Given the description of an element on the screen output the (x, y) to click on. 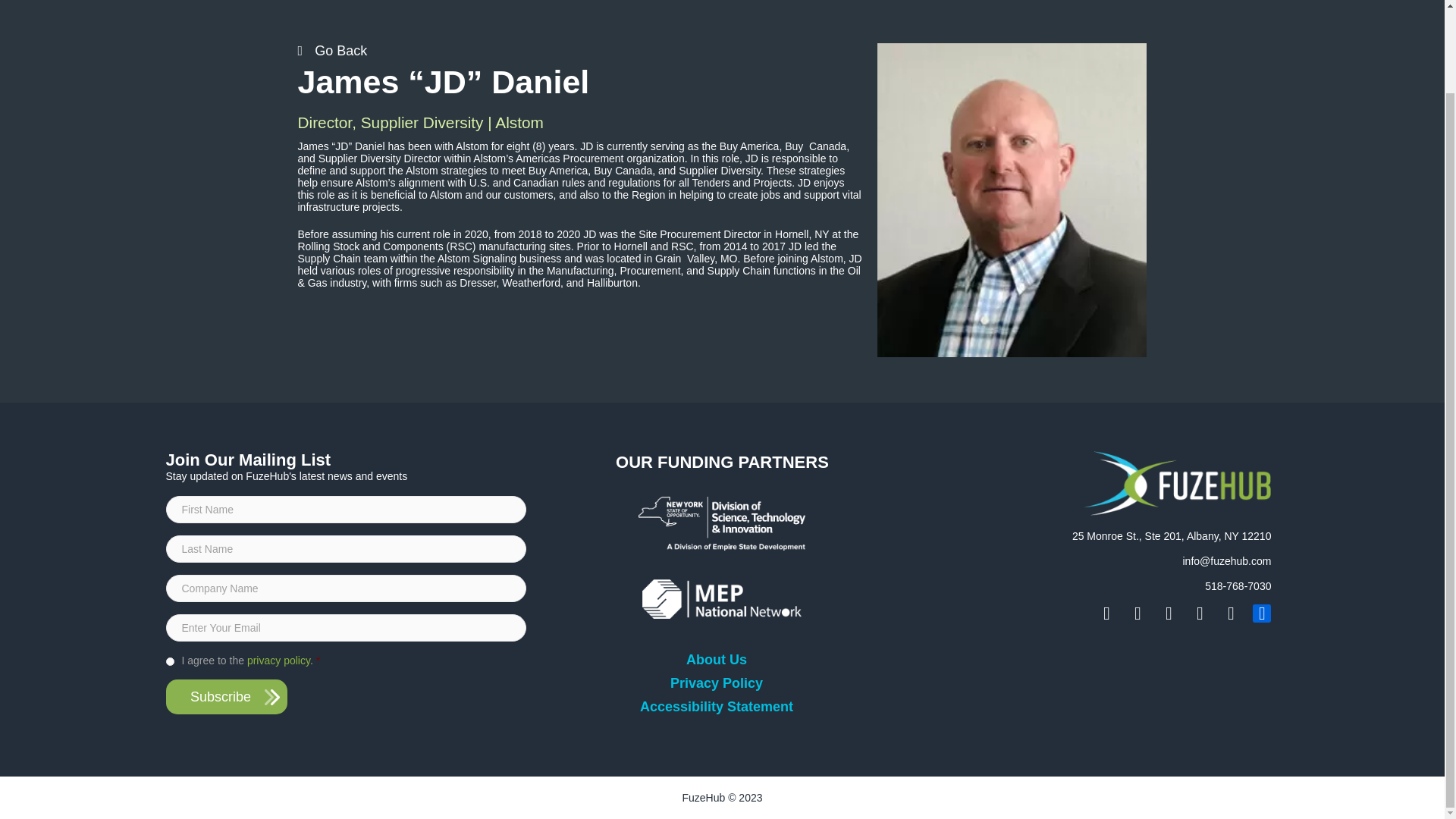
Subscribe (225, 696)
